Given the description of an element on the screen output the (x, y) to click on. 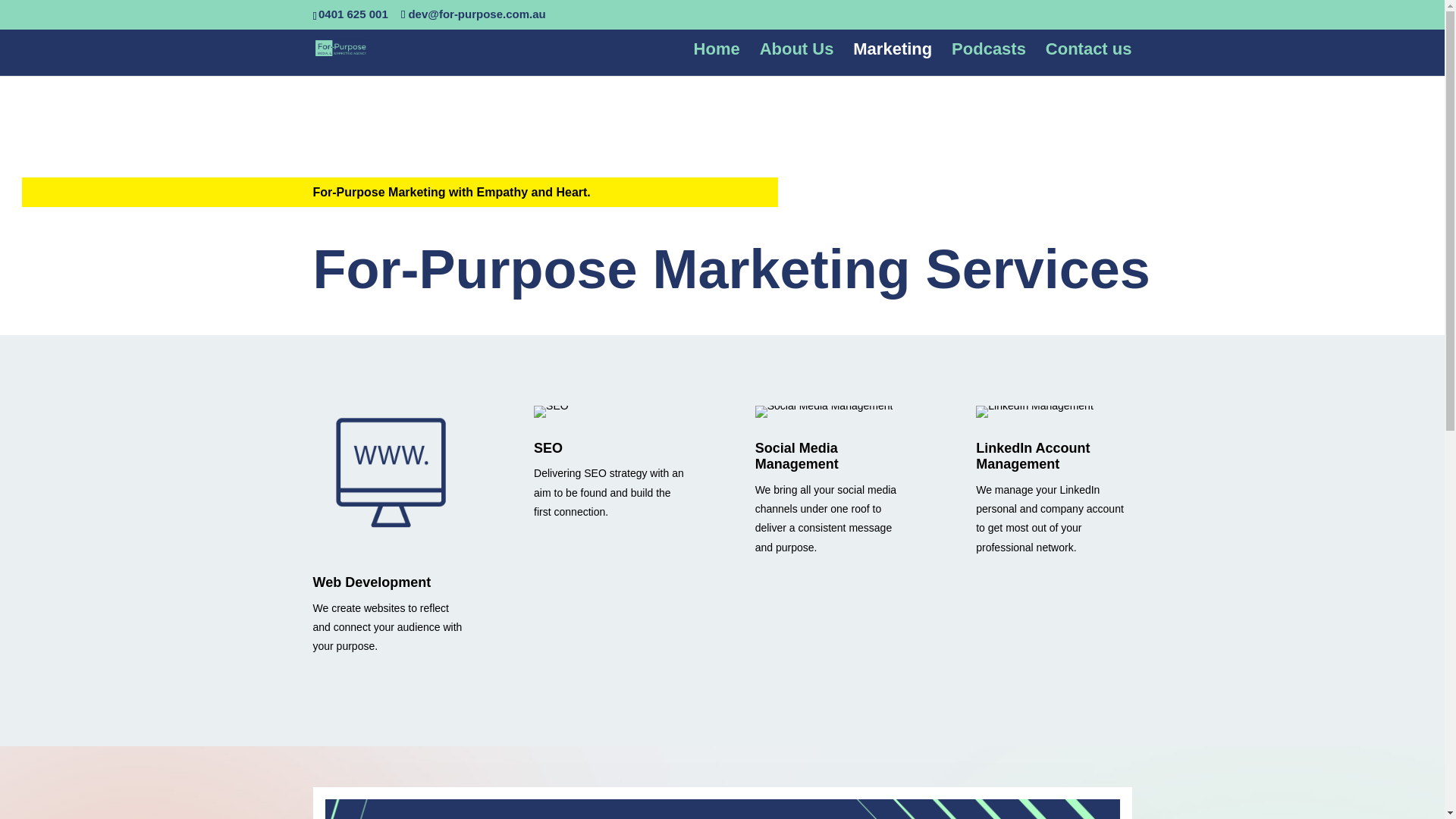
Marketing (892, 60)
About Us (797, 60)
Podcasts (989, 60)
Contact us (1088, 60)
Home (716, 60)
